Given the description of an element on the screen output the (x, y) to click on. 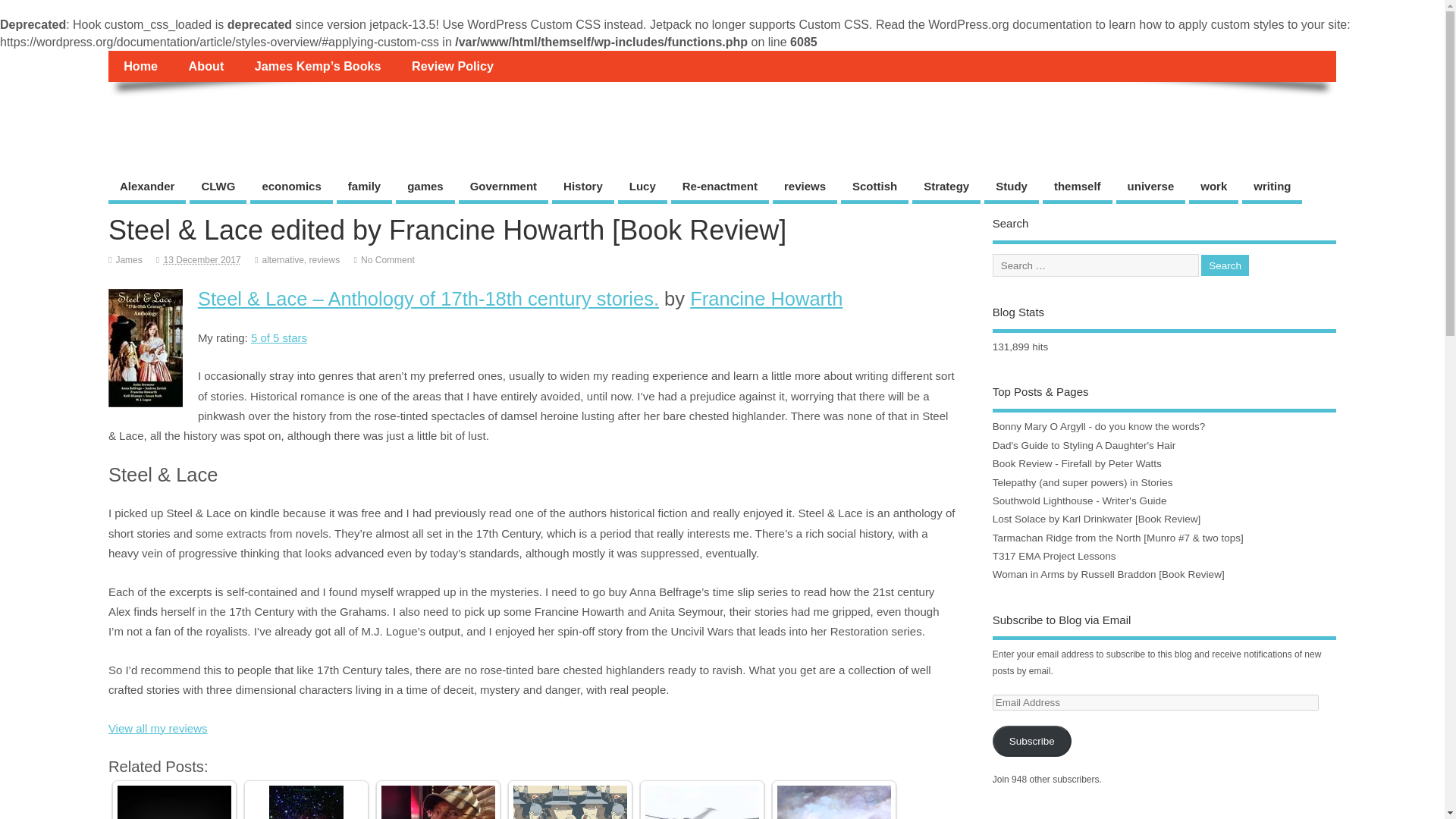
Themself (161, 115)
Review Policy (452, 65)
Home (140, 65)
economics (290, 187)
Book Review - Far Orbit compiled by Bascomb James (306, 802)
Re-enactment (719, 187)
Search (1225, 265)
History (582, 187)
Search (1225, 265)
Strategy (945, 187)
